Given the description of an element on the screen output the (x, y) to click on. 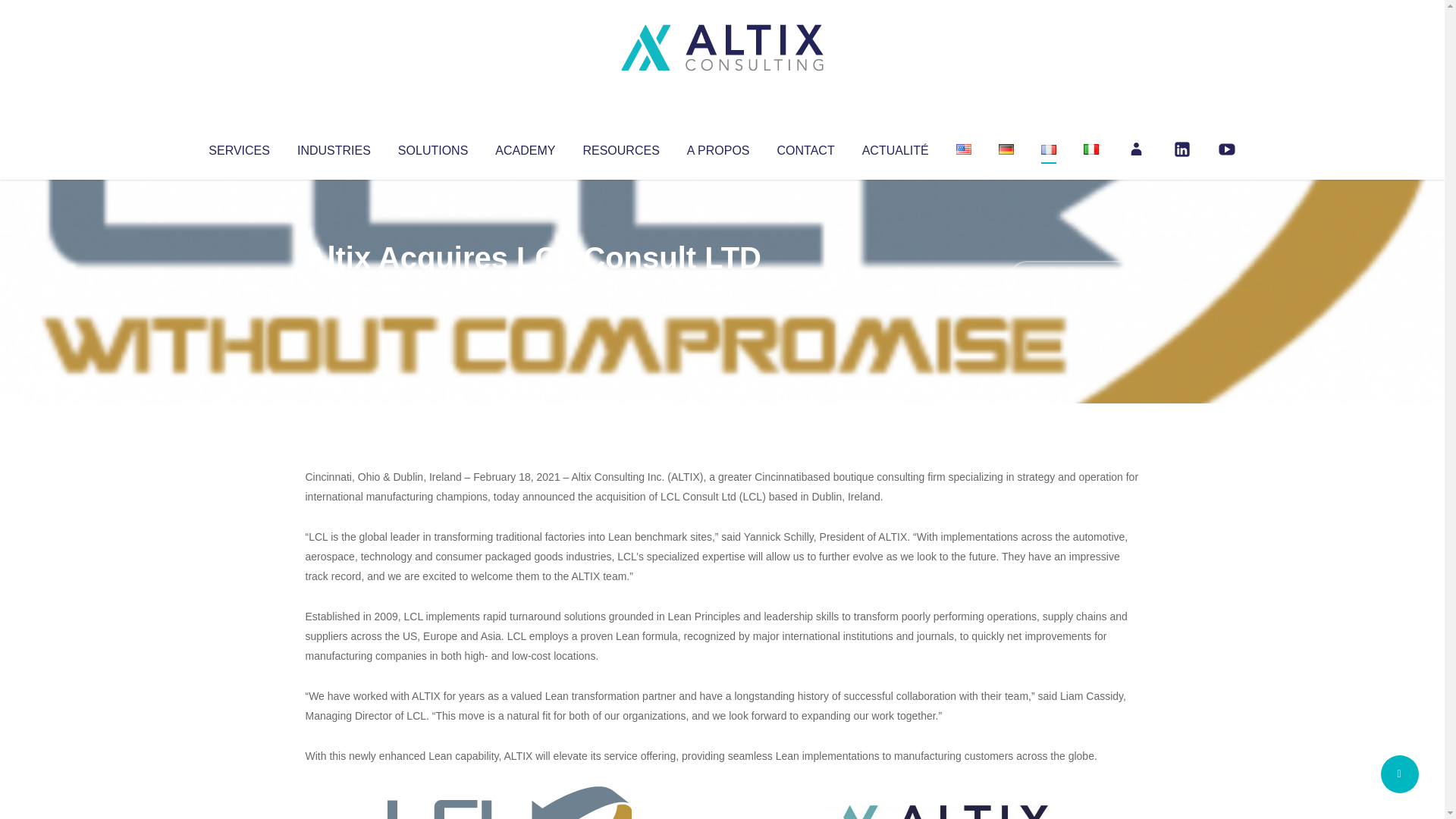
Uncategorized (530, 287)
A PROPOS (718, 146)
No Comments (1073, 278)
SERVICES (238, 146)
SOLUTIONS (432, 146)
RESOURCES (620, 146)
Articles par Altix (333, 287)
Altix (333, 287)
INDUSTRIES (334, 146)
ACADEMY (524, 146)
